Given the description of an element on the screen output the (x, y) to click on. 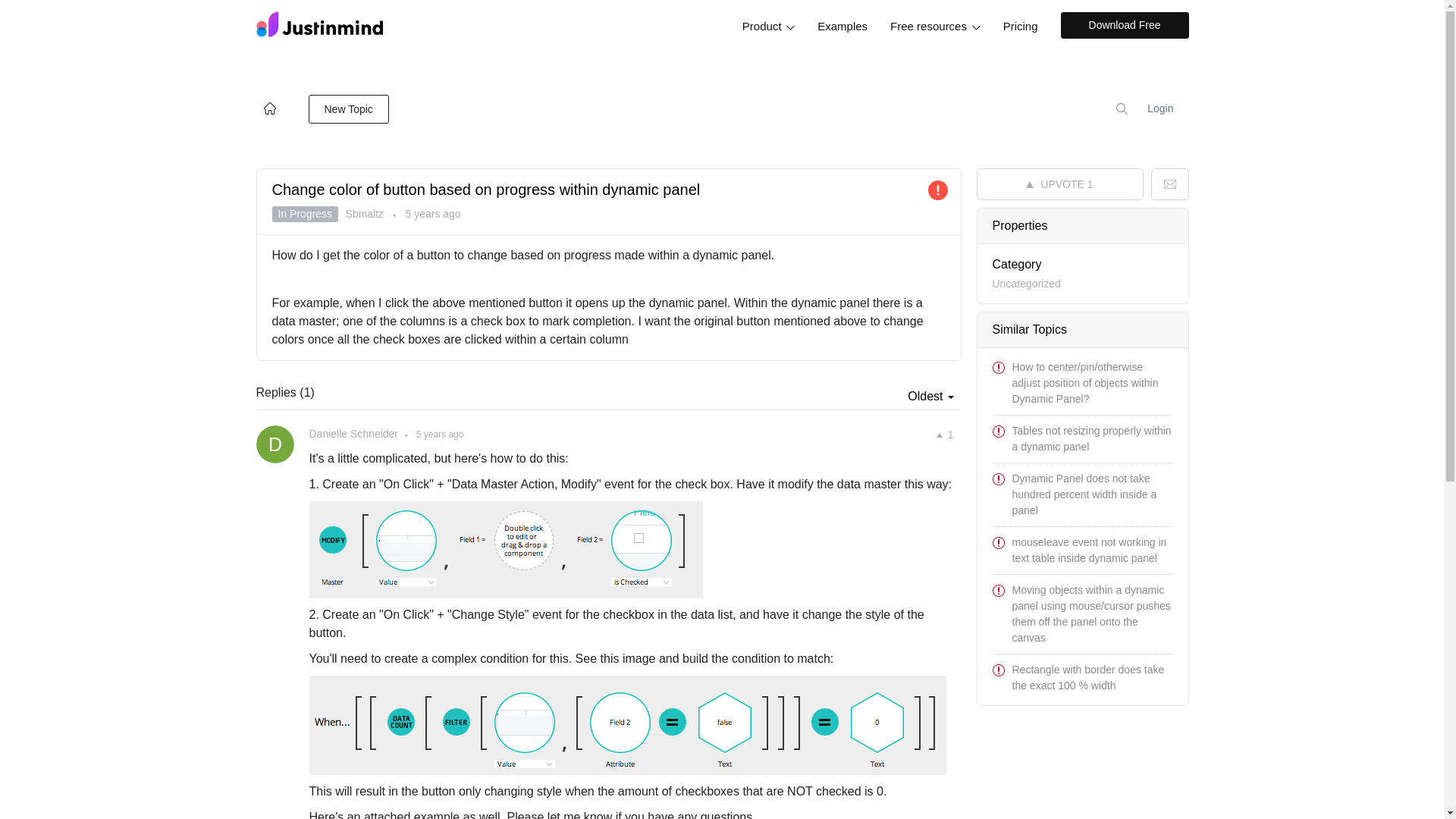
Pricing (1020, 25)
Tables not resizing properly within a dynamic panel (1090, 438)
Sbmaltz (366, 214)
1 (945, 434)
Examples (842, 25)
Download Free (1123, 25)
New Topic (347, 109)
Login (1157, 108)
Uncategorized (1025, 283)
Danielle Schneider (353, 433)
